Given the description of an element on the screen output the (x, y) to click on. 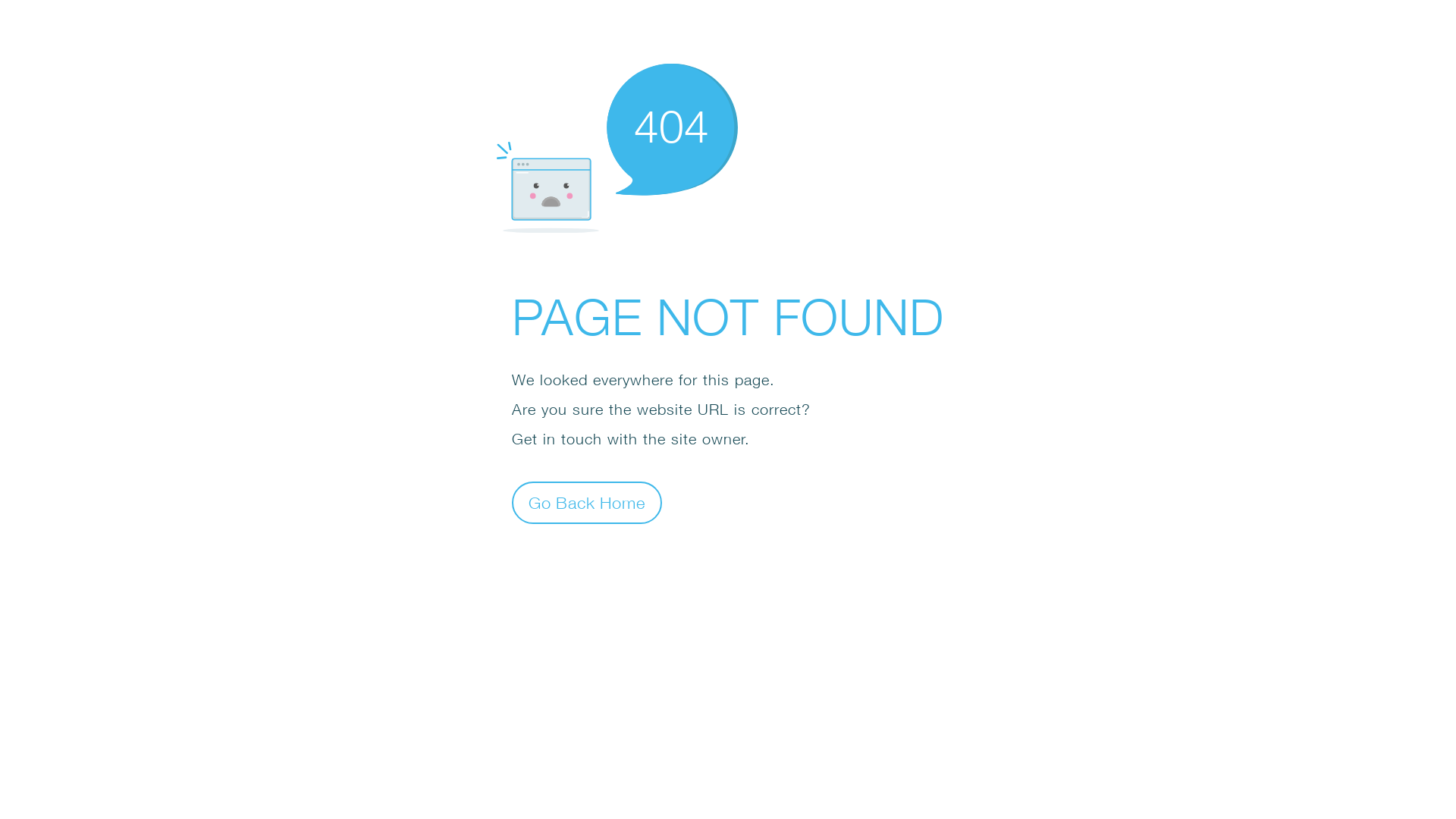
Go Back Home Element type: text (586, 502)
